Given the description of an element on the screen output the (x, y) to click on. 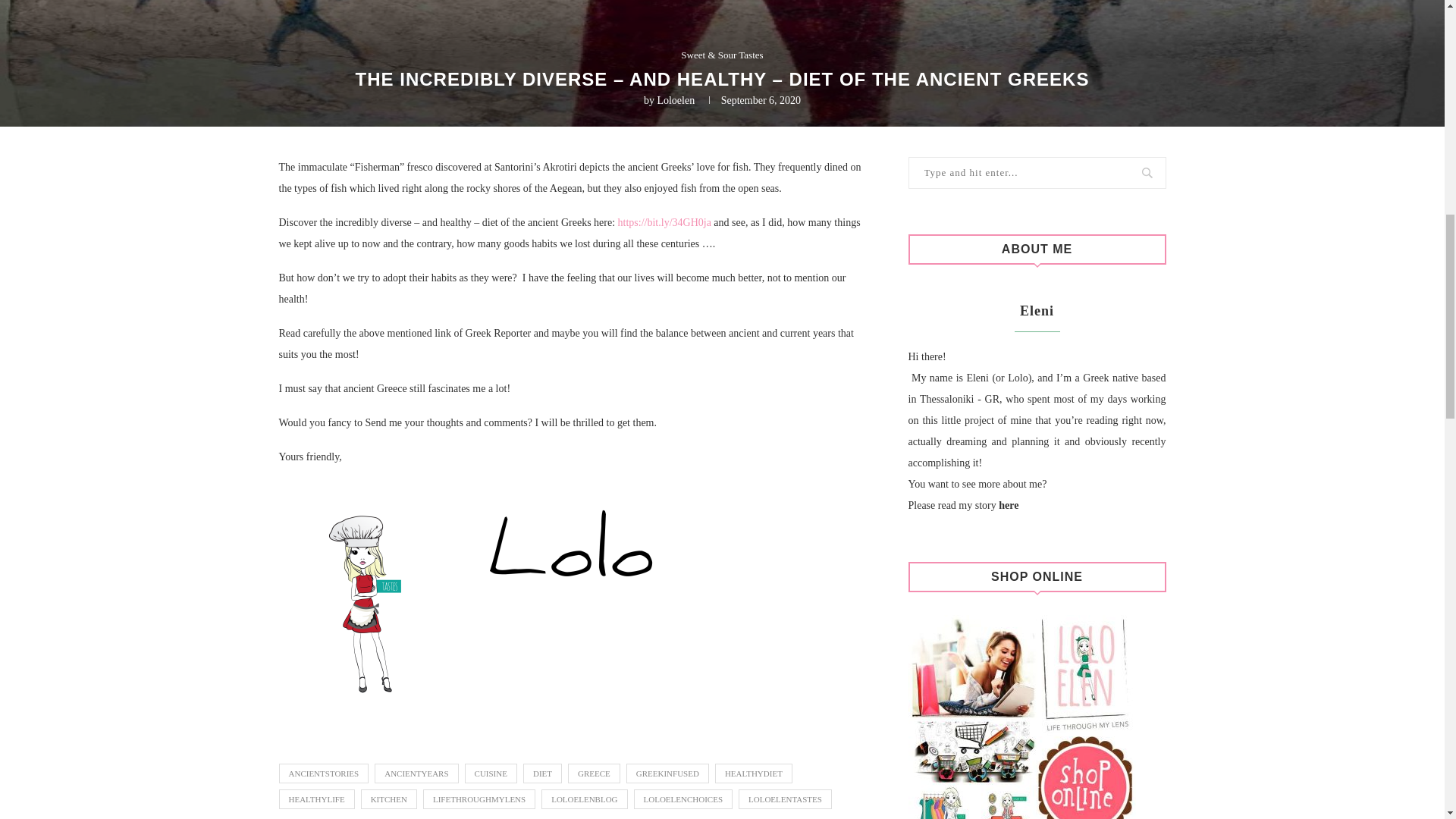
HEALTHYDIET (753, 772)
CUISINE (490, 772)
GREEKINFUSED (667, 772)
Loloelen (675, 100)
DIET (542, 772)
ANCIENTYEARS (416, 772)
GREECE (593, 772)
ANCIENTSTORIES (324, 772)
